Given the description of an element on the screen output the (x, y) to click on. 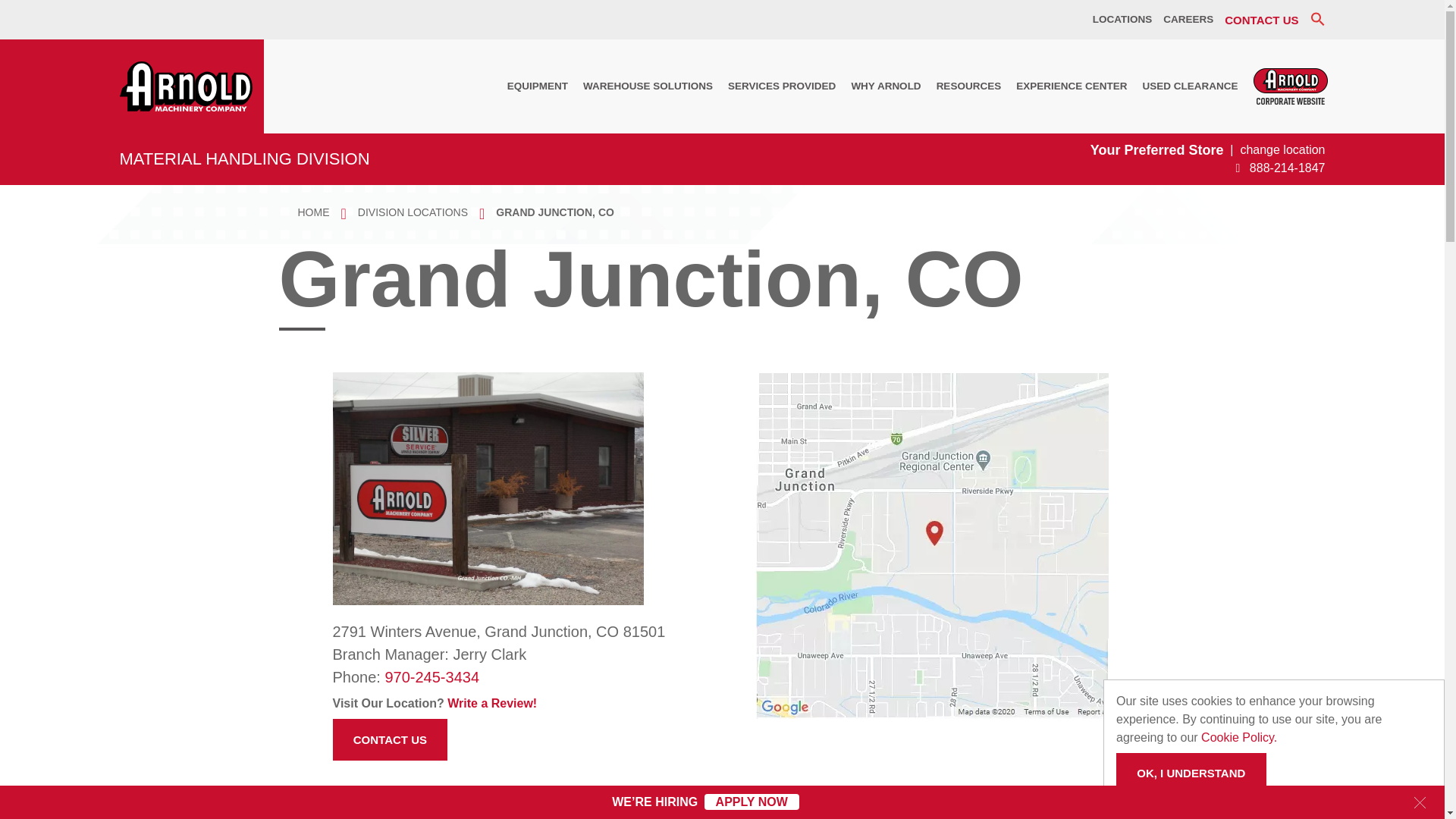
Arnold Machinery Grand Junction (487, 489)
Arnold Machinery Grand Junction CO map (931, 546)
SERVICES PROVIDED (781, 86)
LOCATIONS (1123, 19)
RESOURCES (968, 86)
WHY ARNOLD (885, 86)
USED CLEARANCE (1189, 86)
EQUIPMENT (537, 86)
CAREERS (1187, 19)
Arnold Corporate (1290, 86)
Opens a widget where you can chat to one of our agents (1386, 792)
WAREHOUSE SOLUTIONS (647, 86)
CONTACT US (1261, 19)
EXPERIENCE CENTER (1071, 86)
